Given the description of an element on the screen output the (x, y) to click on. 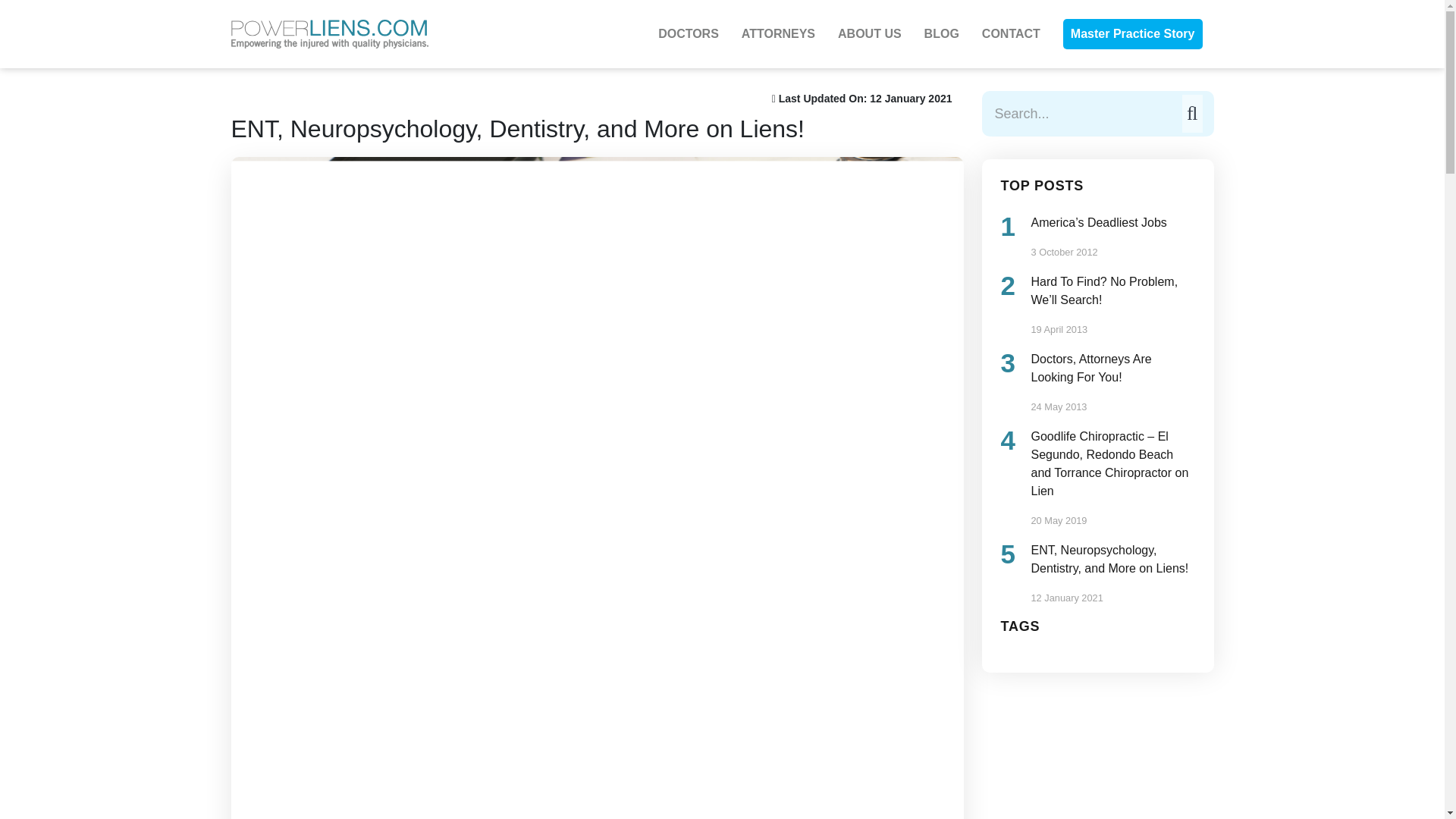
BLOG (941, 34)
ENT, Neuropsychology, Dentistry, and More on Liens! (1112, 559)
ABOUT US (869, 34)
ATTORNEYS (778, 34)
DOCTORS (688, 34)
Doctors, Attorneys Are Looking For You! (1112, 368)
Master Practice Story (1132, 33)
CONTACT (1011, 34)
